Given the description of an element on the screen output the (x, y) to click on. 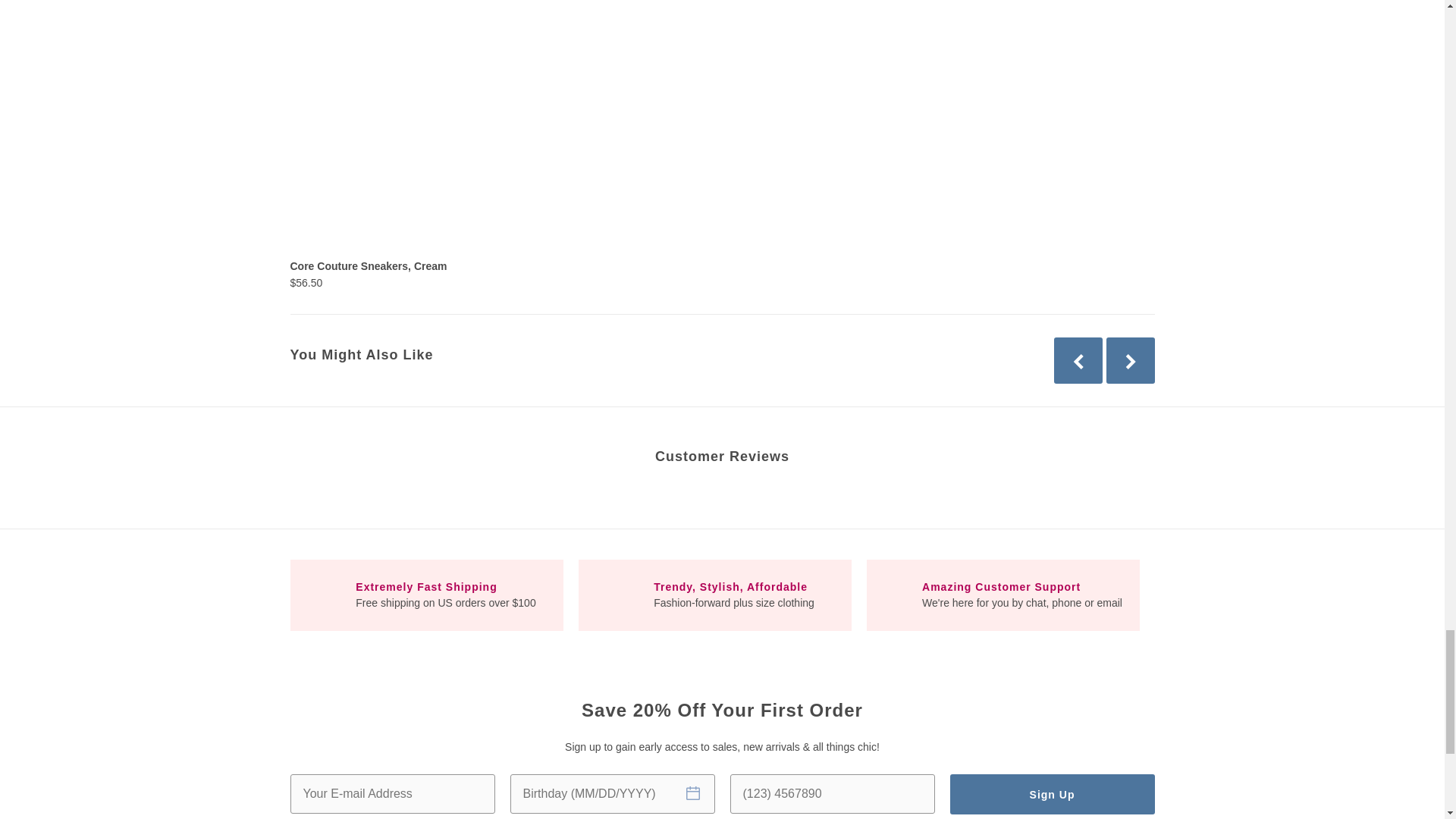
Sign Up (1051, 793)
